Given the description of an element on the screen output the (x, y) to click on. 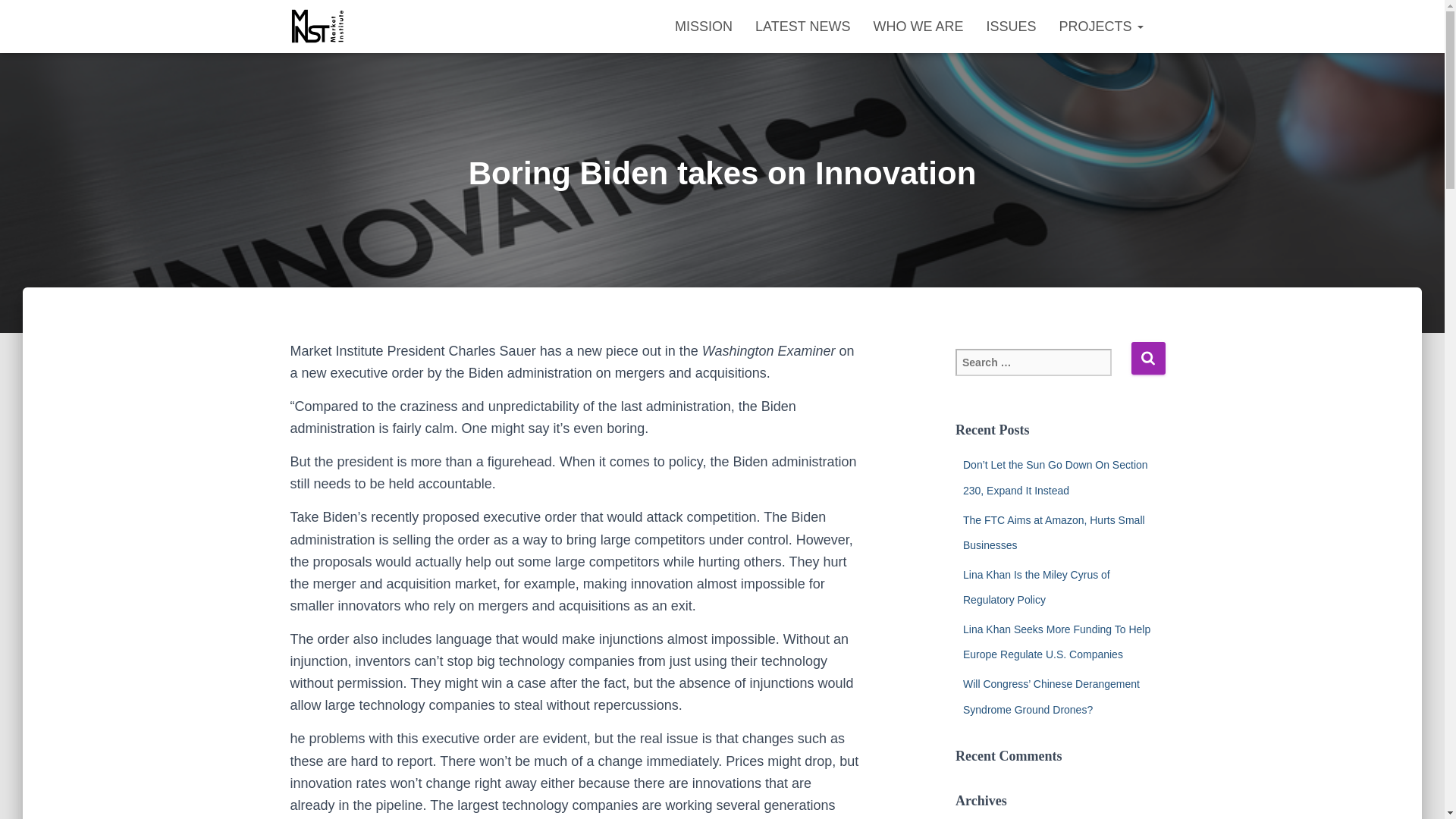
Who We Are (917, 26)
Issues (1010, 26)
Latest News (802, 26)
Market Institute (318, 26)
Search (1148, 358)
ISSUES (1010, 26)
Search (1148, 358)
LATEST NEWS (802, 26)
WHO WE ARE (917, 26)
MISSION (703, 26)
The FTC Aims at Amazon, Hurts Small Businesses (1053, 533)
Mission (703, 26)
Search (1148, 358)
Lina Khan Is the Miley Cyrus of Regulatory Policy (1035, 587)
